Given the description of an element on the screen output the (x, y) to click on. 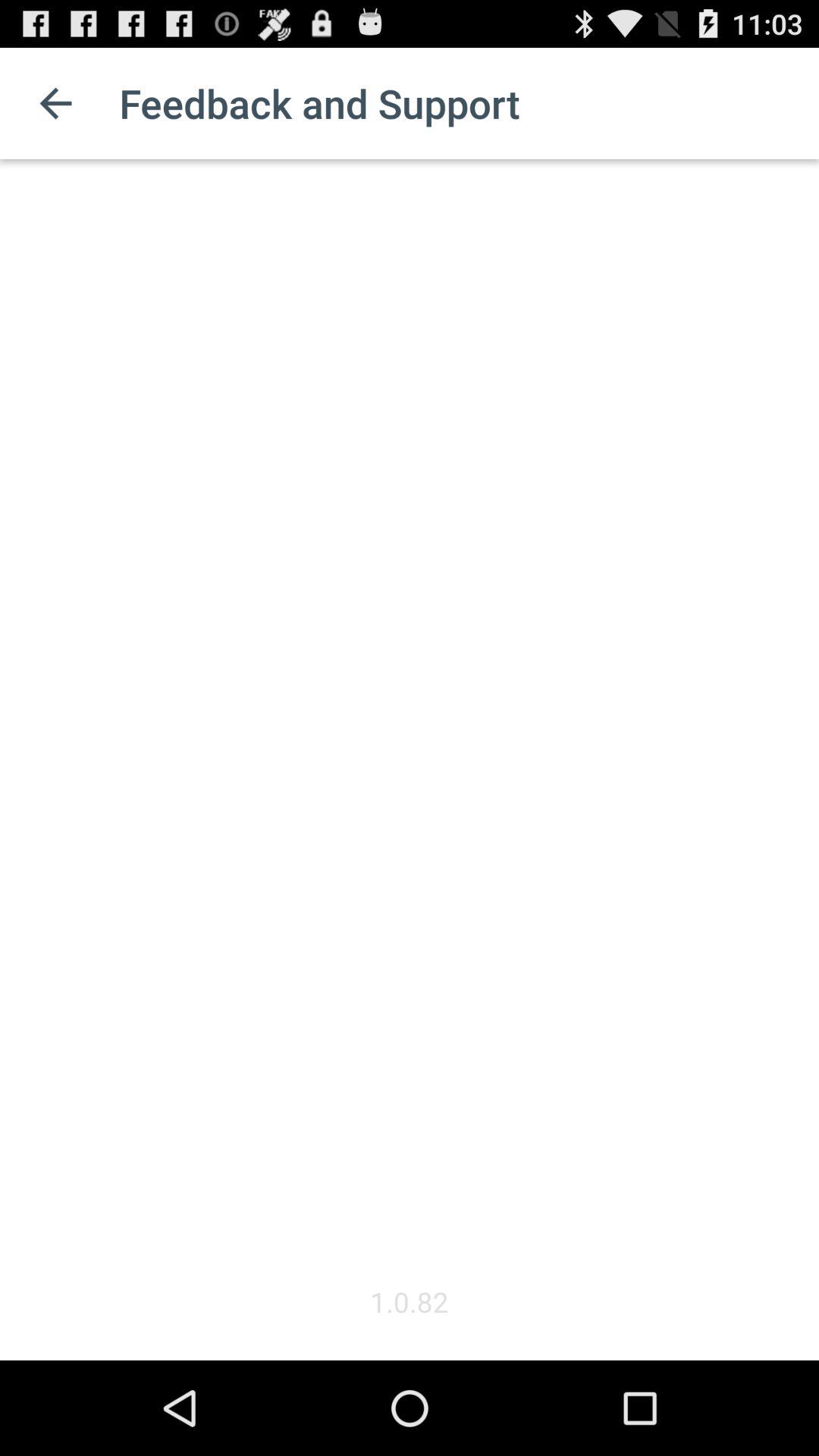
open the app above 1.0.82 app (409, 721)
